Given the description of an element on the screen output the (x, y) to click on. 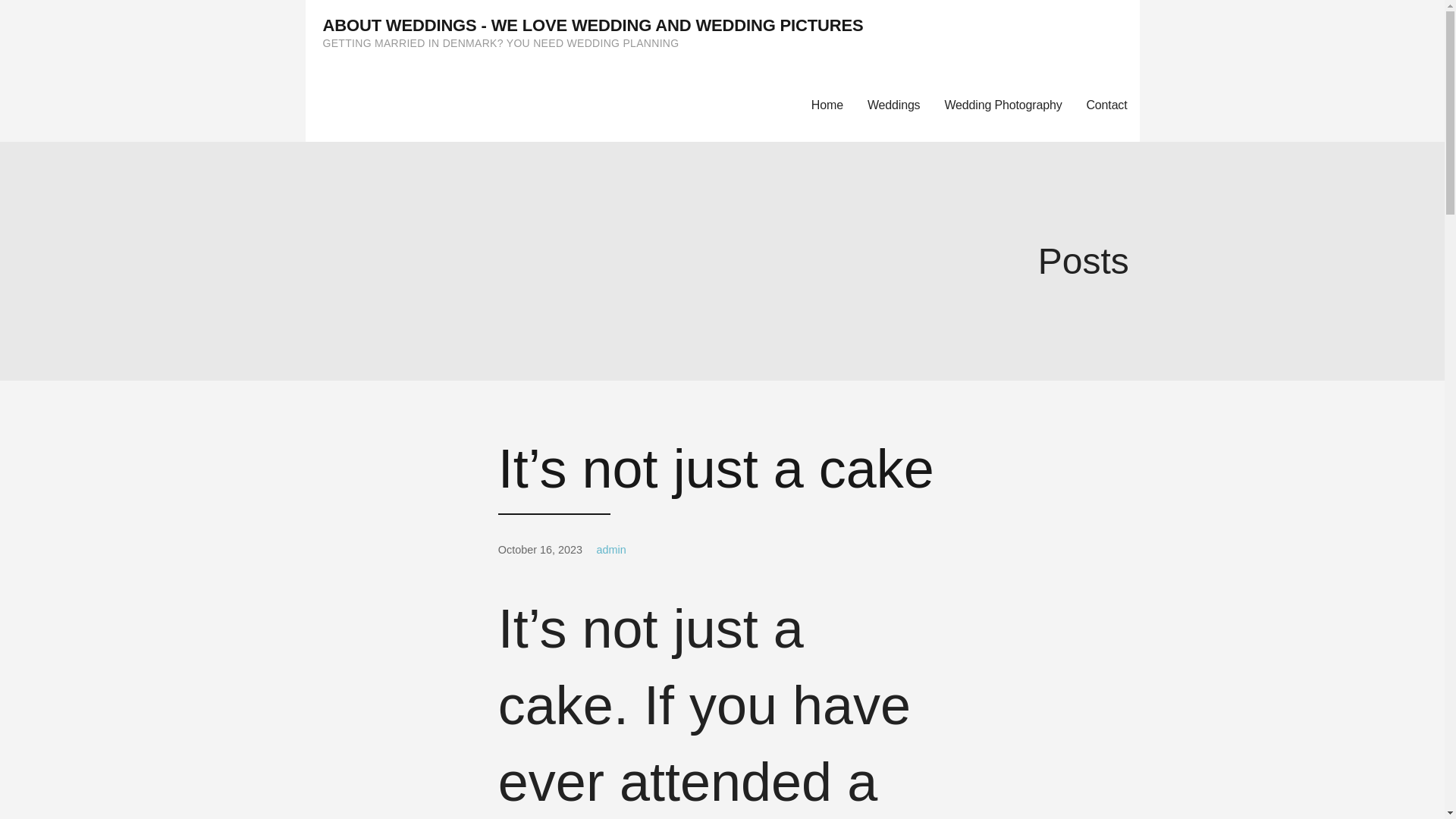
Posts by admin (610, 549)
admin (610, 549)
ABOUT WEDDINGS - WE LOVE WEDDING AND WEDDING PICTURES (593, 25)
Wedding Photography (1002, 105)
Weddings (894, 105)
Contact (1106, 105)
